Given the description of an element on the screen output the (x, y) to click on. 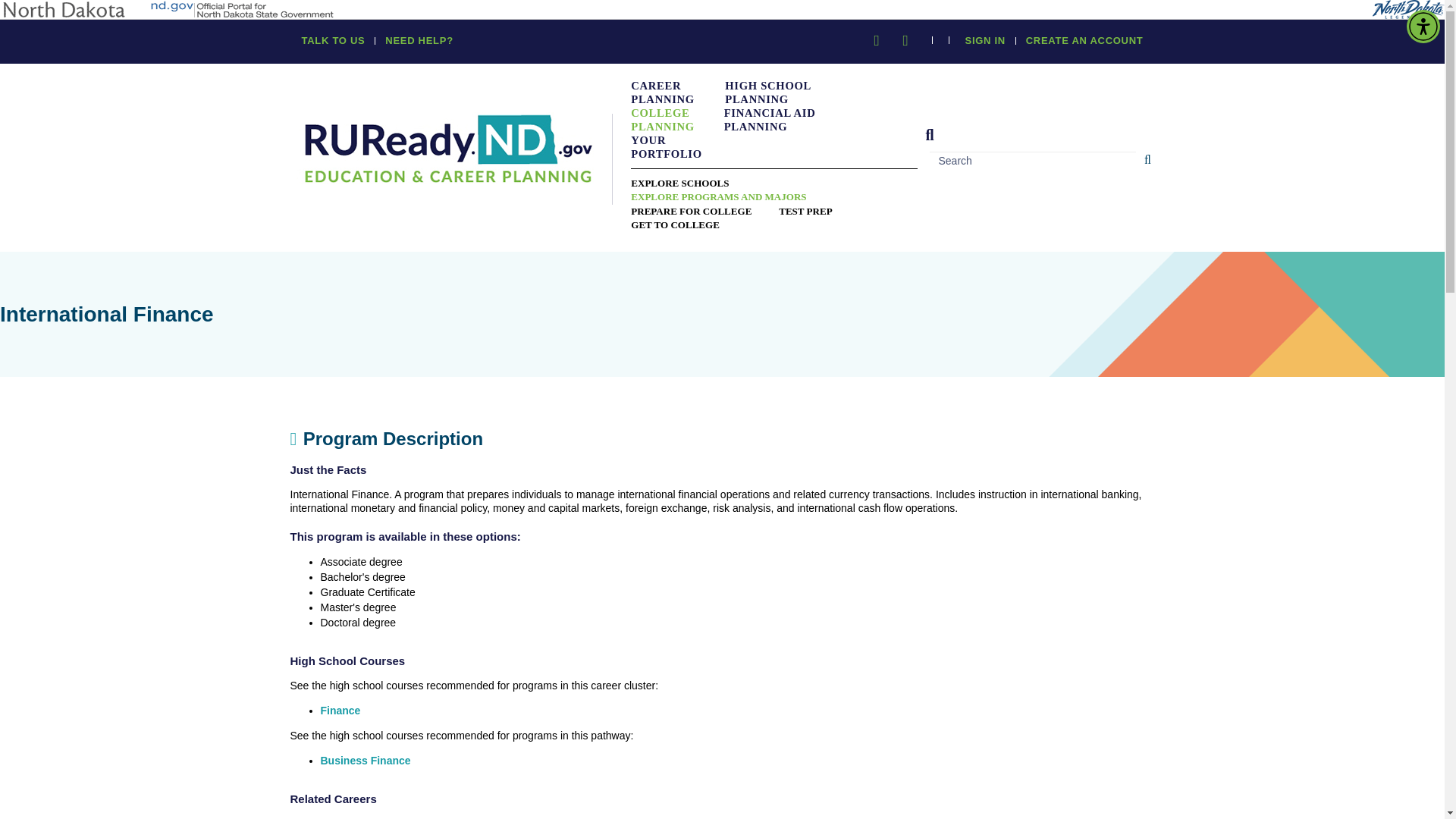
EXPLORE SCHOOLS (679, 183)
YOUR PORTFOLIO (676, 146)
CAREER PLANNING (677, 92)
search (1037, 160)
LIKE US ON FACEBOOK (877, 40)
TEST PREP (804, 211)
Like us on Facebook (877, 40)
SIGN IN (985, 40)
HIGH SCHOOL PLANNING (777, 92)
COLLEGE PLANNING (676, 119)
NEED HELP? (418, 40)
FINANCIAL AID PLANNING (779, 119)
Search Site (928, 134)
Search (1150, 160)
GET TO COLLEGE (674, 224)
